Given the description of an element on the screen output the (x, y) to click on. 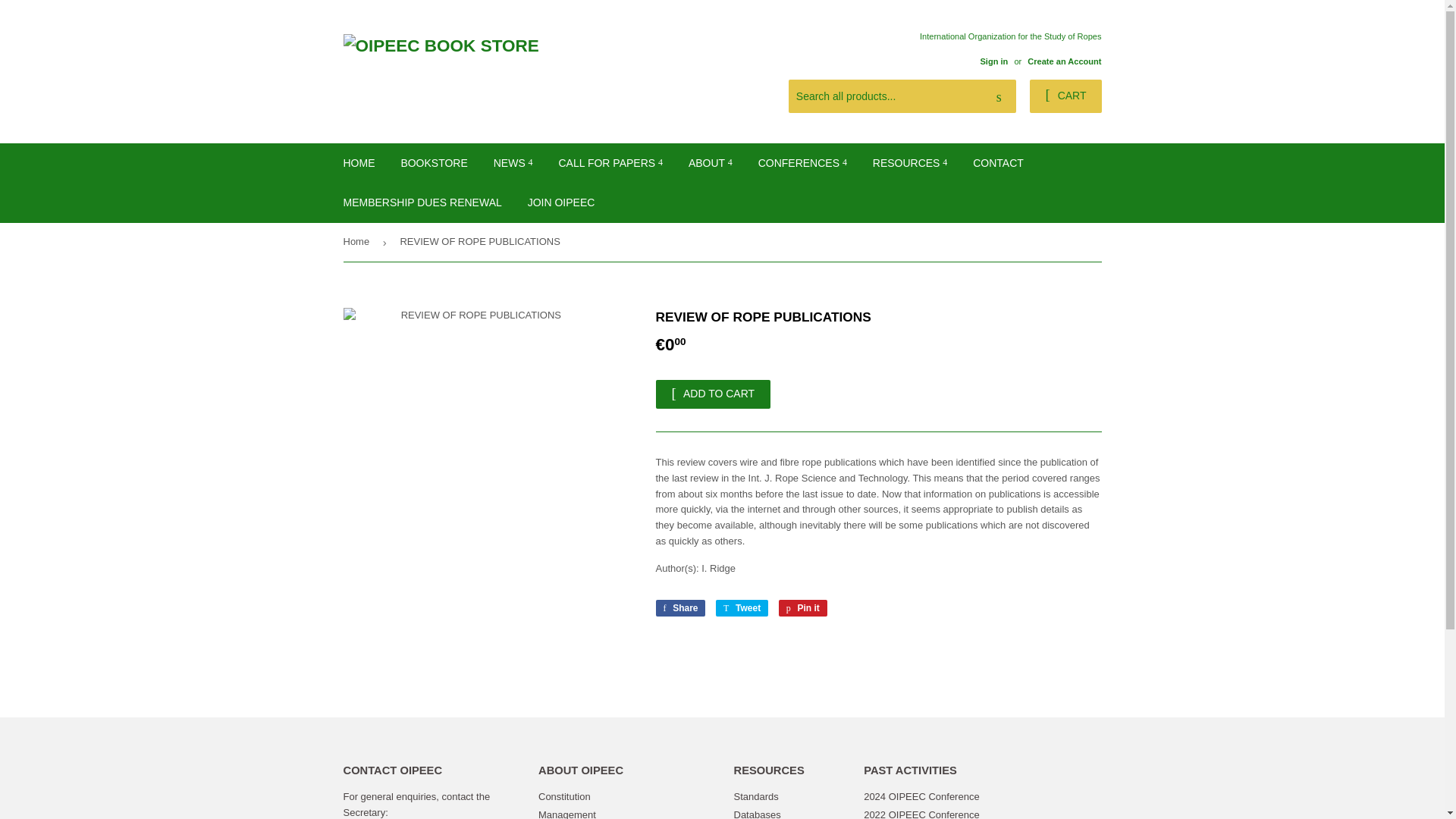
Sign in (993, 60)
Share on Facebook (679, 607)
HOME (359, 162)
Search (998, 97)
Tweet on Twitter (742, 607)
CART (1064, 96)
Create an Account (1063, 60)
Pin on Pinterest (802, 607)
